Given the description of an element on the screen output the (x, y) to click on. 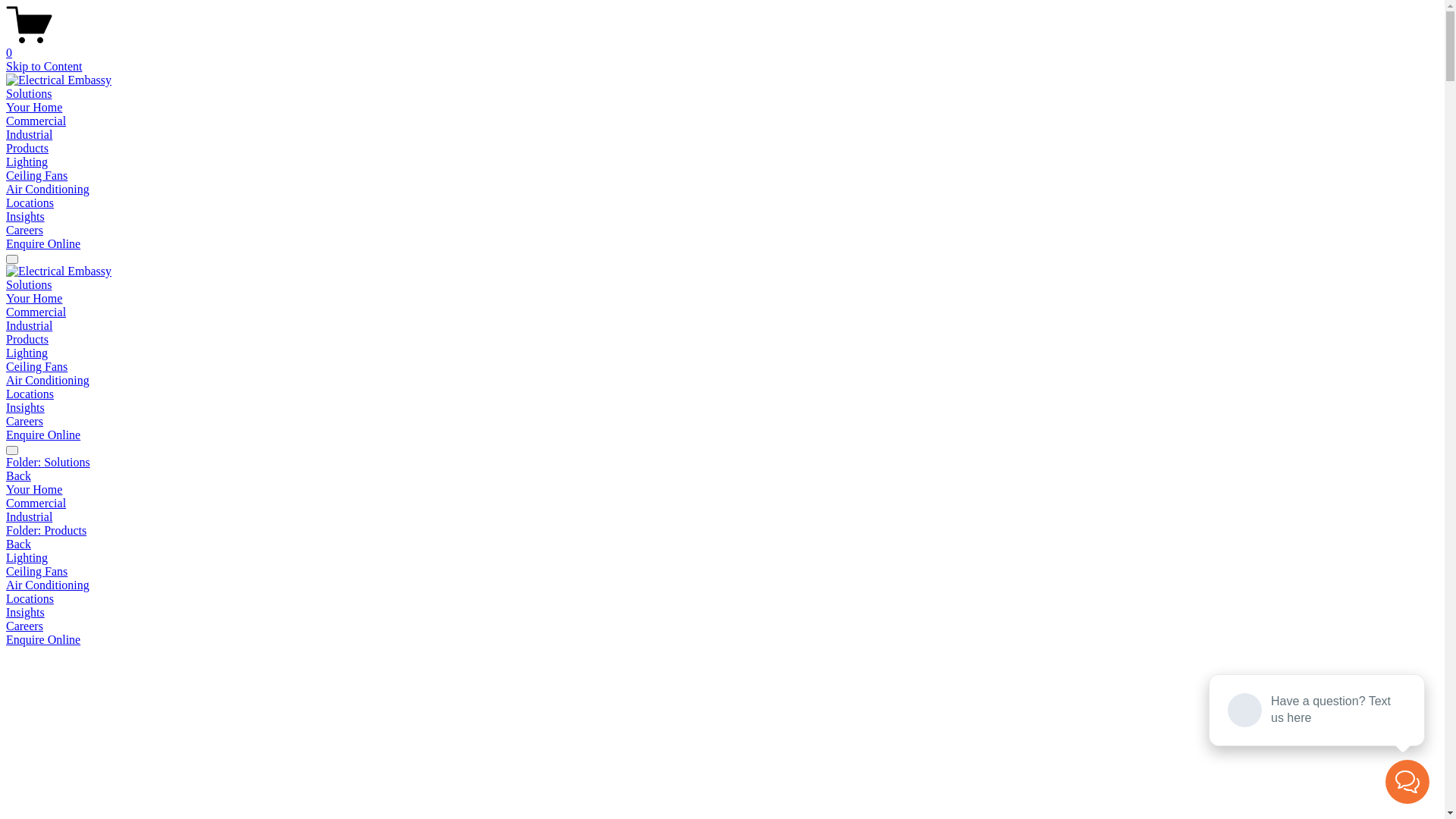
Locations Element type: text (29, 393)
Your Home Element type: text (722, 489)
Insights Element type: text (722, 612)
Enquire Online Element type: text (43, 434)
Enquire Online Element type: text (43, 639)
Products Element type: text (27, 338)
Careers Element type: text (24, 420)
Commercial Element type: text (722, 503)
Air Conditioning Element type: text (722, 585)
Lighting Element type: text (26, 161)
Enquire Online Element type: text (43, 243)
Air Conditioning Element type: text (47, 379)
Air Conditioning Element type: text (47, 188)
Commercial Element type: text (35, 311)
Solutions Element type: text (28, 284)
Lighting Element type: text (26, 352)
Folder: Solutions Element type: text (722, 462)
Your Home Element type: text (34, 106)
Industrial Element type: text (29, 325)
Skip to Content Element type: text (43, 65)
Ceiling Fans Element type: text (722, 571)
Insights Element type: text (25, 216)
Commercial Element type: text (35, 120)
Locations Element type: text (722, 598)
0 Element type: text (722, 45)
Ceiling Fans Element type: text (36, 175)
Solutions Element type: text (28, 93)
Industrial Element type: text (29, 134)
Insights Element type: text (25, 407)
Lighting Element type: text (722, 557)
Industrial Element type: text (722, 517)
Back Element type: text (18, 543)
Ceiling Fans Element type: text (36, 366)
Products Element type: text (27, 147)
Locations Element type: text (29, 202)
Your Home Element type: text (34, 297)
Folder: Products Element type: text (722, 530)
Careers Element type: text (24, 625)
Back Element type: text (18, 475)
Careers Element type: text (24, 229)
